Given the description of an element on the screen output the (x, y) to click on. 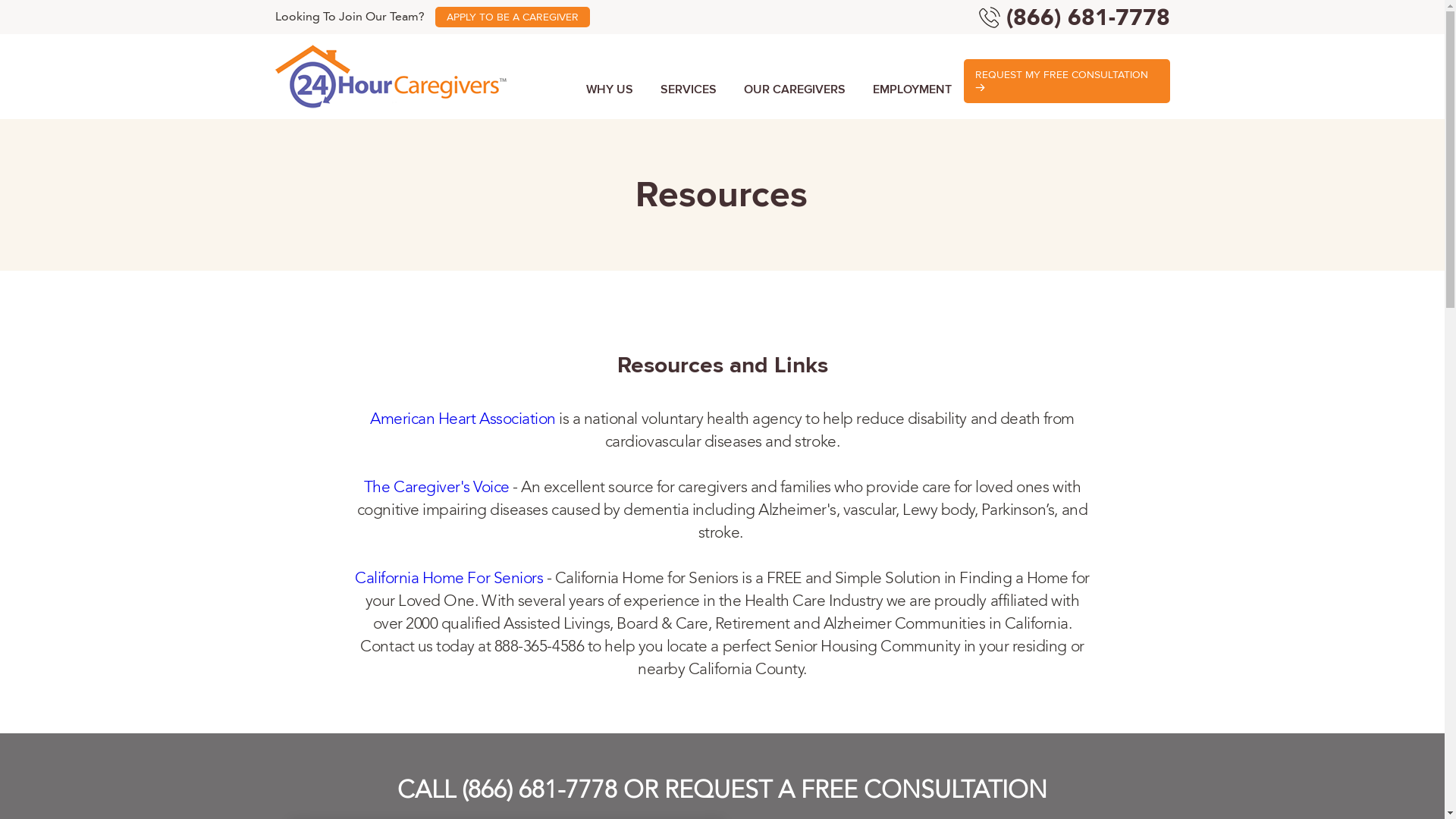
EMPLOYMENT Element type: text (911, 88)
American Heart Association Element type: text (462, 417)
APPLY TO BE A CAREGIVER Element type: text (512, 16)
WHY US Element type: text (608, 88)
OUR CAREGIVERS Element type: text (793, 88)
California Home For Seniors Element type: text (448, 576)
The Caregiver's Voice Element type: text (436, 485)
(866) 681-7778 Element type: text (1087, 17)
SERVICES Element type: text (687, 88)
